Given the description of an element on the screen output the (x, y) to click on. 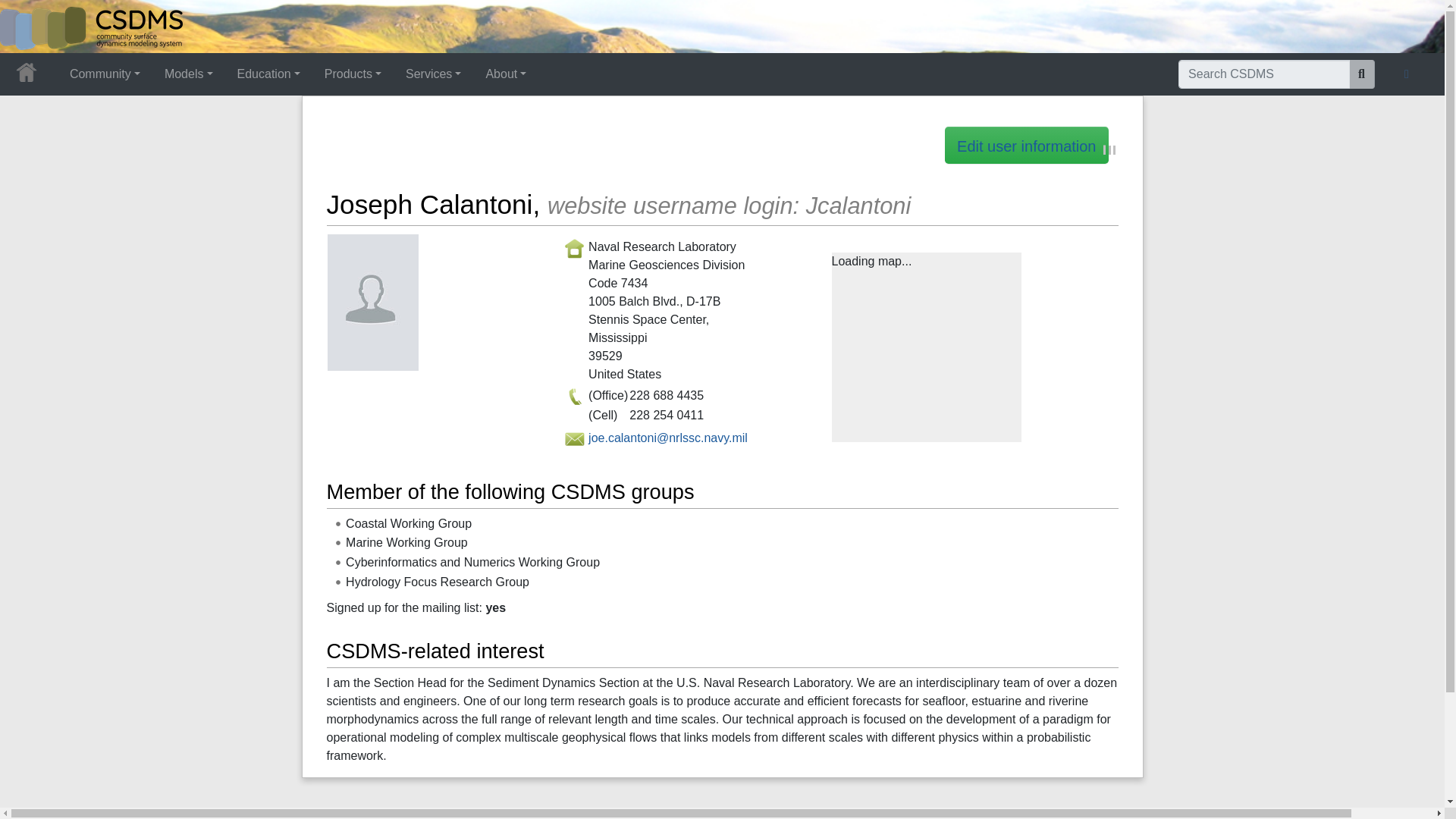
Services (433, 73)
Products (353, 73)
Community (105, 73)
Upload photo (373, 300)
Information on how to cite this page (1329, 816)
A list of contributions by this user (360, 816)
Education (269, 73)
More information about this page (1095, 816)
Models (188, 73)
Go to a page with this exact name if it exists (1361, 73)
